Given the description of an element on the screen output the (x, y) to click on. 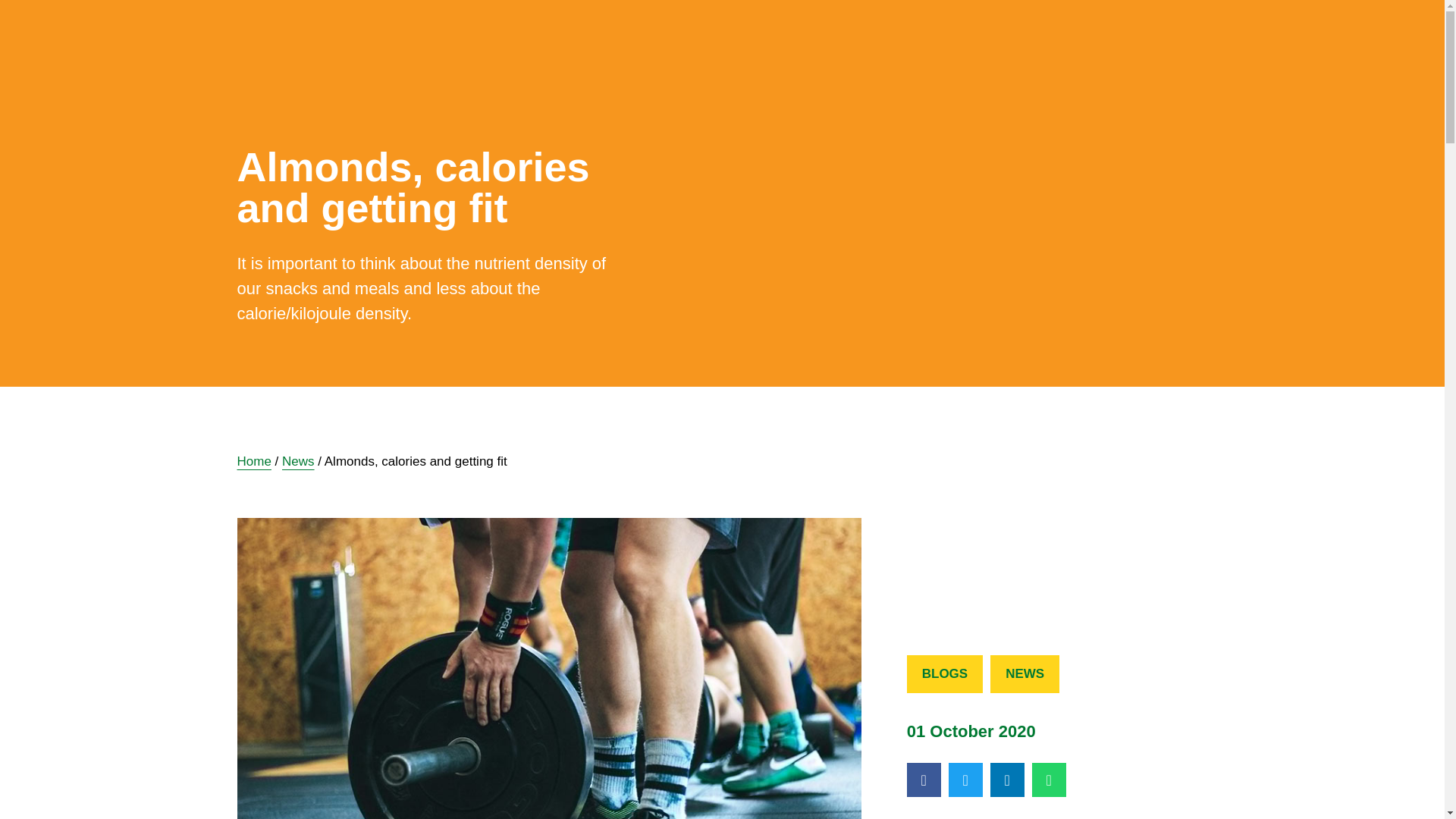
News (298, 461)
NEWS (1024, 673)
BLOGS (944, 673)
Home (252, 461)
